Given the description of an element on the screen output the (x, y) to click on. 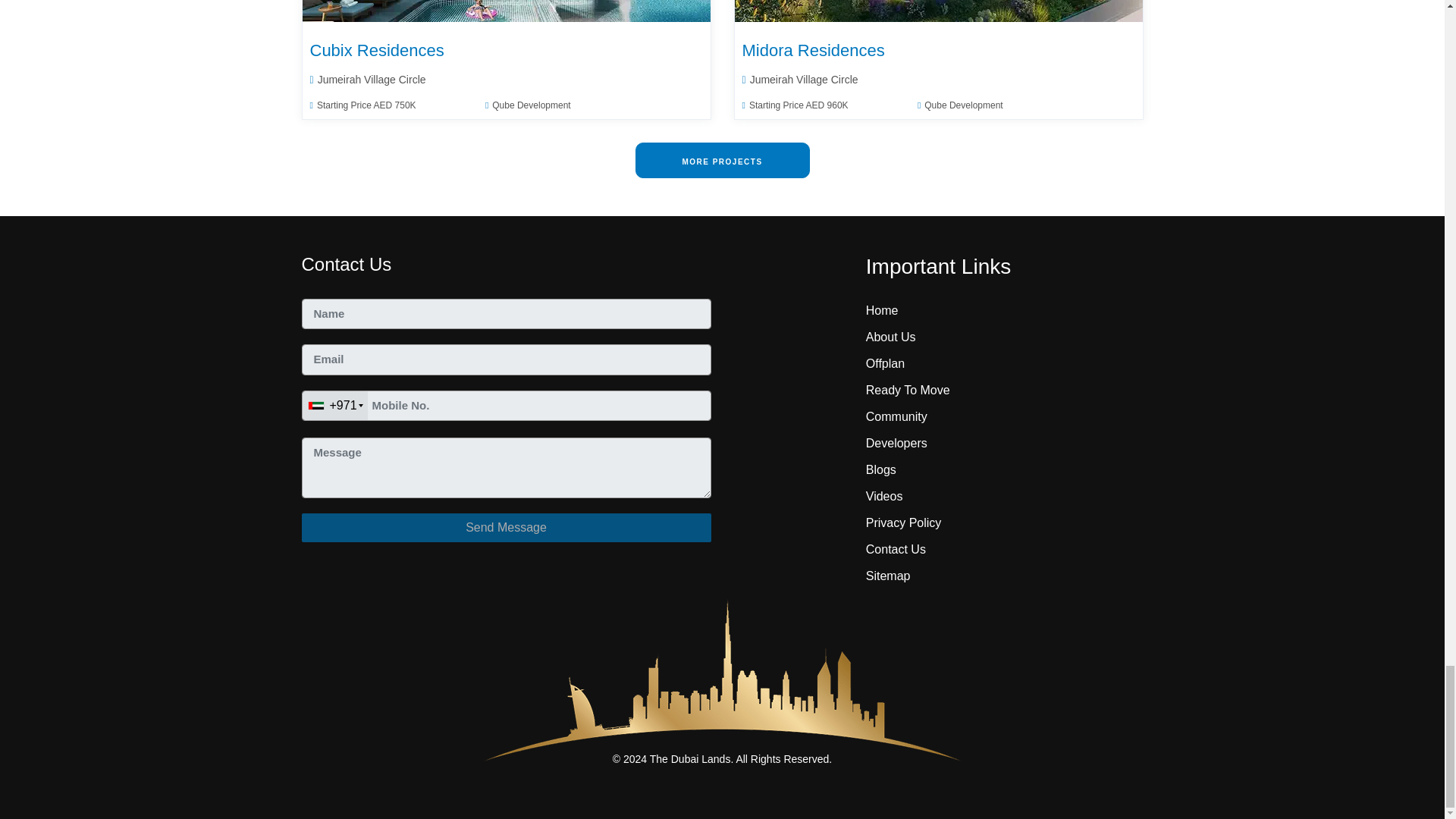
Midora Residences (938, 11)
Cubix Residences (506, 11)
